Given the description of an element on the screen output the (x, y) to click on. 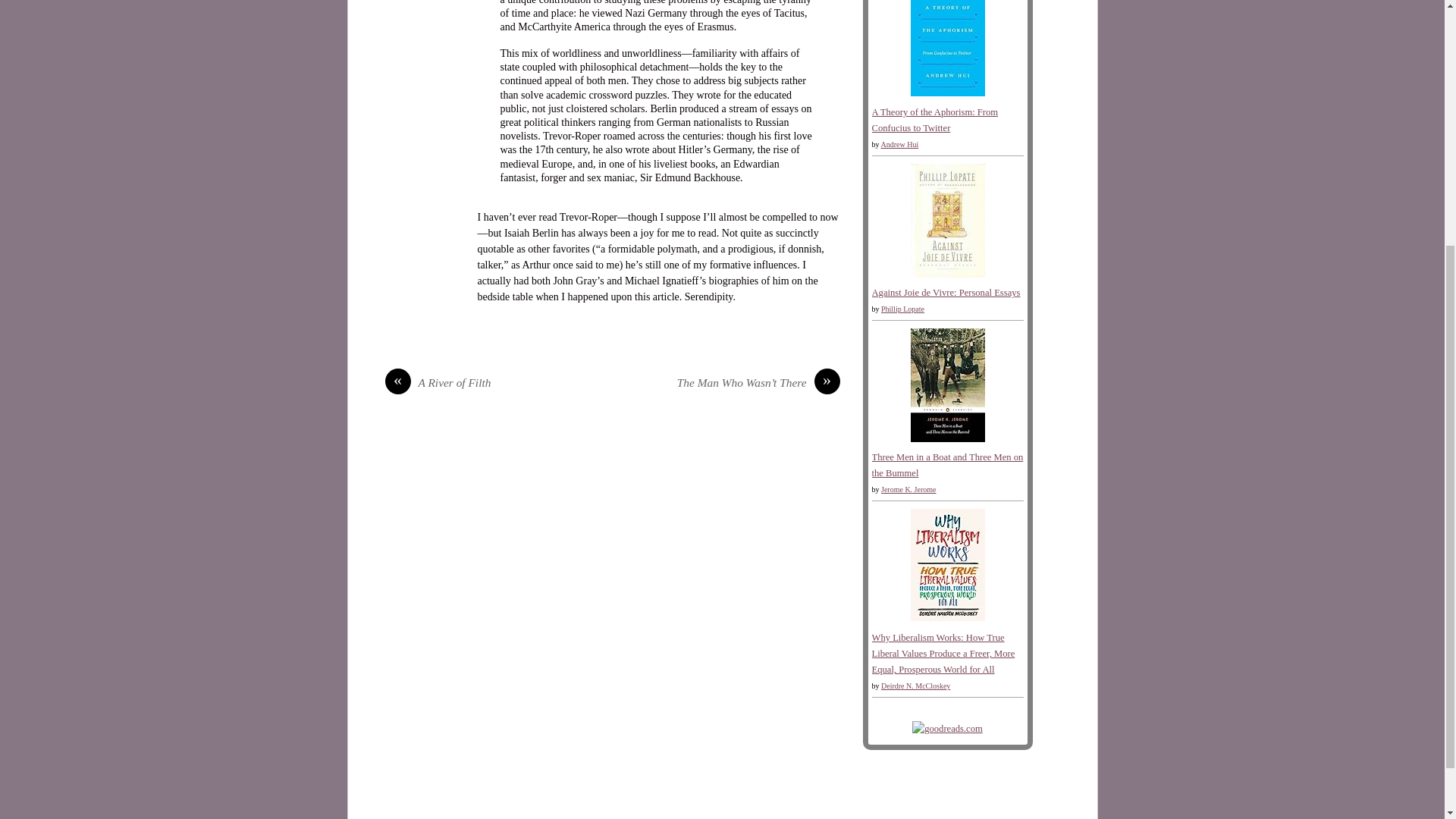
Three Men in a Boat and Three Men on the Bummel (947, 465)
Jerome K. Jerome (908, 489)
A Theory of the Aphorism: From Confucius to Twitter (935, 120)
Three Men in a Boat and Three Men on the Bummel (947, 439)
Against Joie de Vivre: Personal Essays (946, 292)
Andrew Hui (899, 144)
Against Joie de Vivre: Personal Essays (947, 274)
Phillip Lopate (902, 308)
Deirdre N. McCloskey (915, 685)
